Given the description of an element on the screen output the (x, y) to click on. 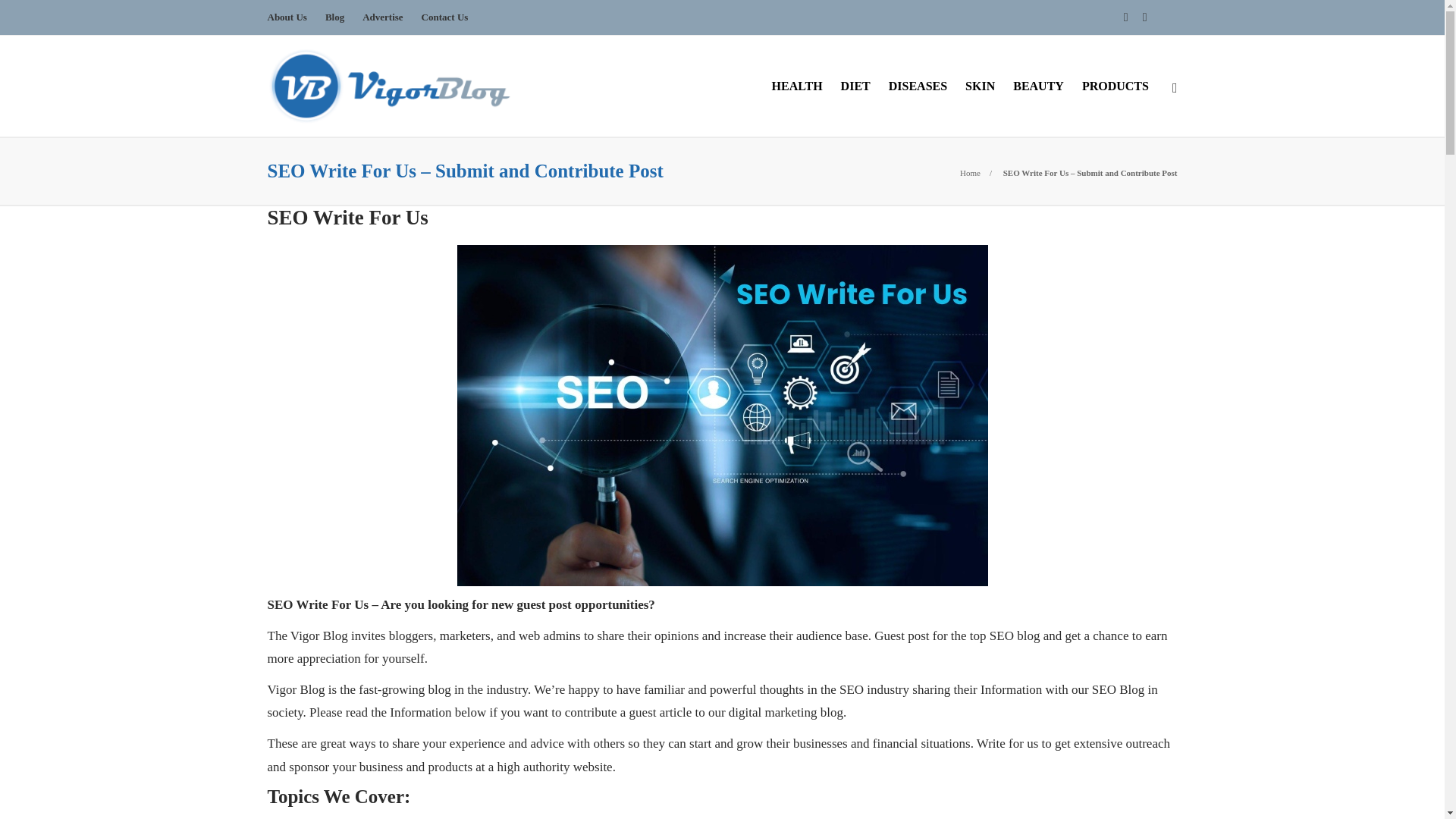
Home (969, 172)
Contact Us (445, 17)
Home (969, 172)
PRODUCTS (1114, 86)
About Us (285, 17)
DISEASES (917, 86)
Advertise (382, 17)
